Given the description of an element on the screen output the (x, y) to click on. 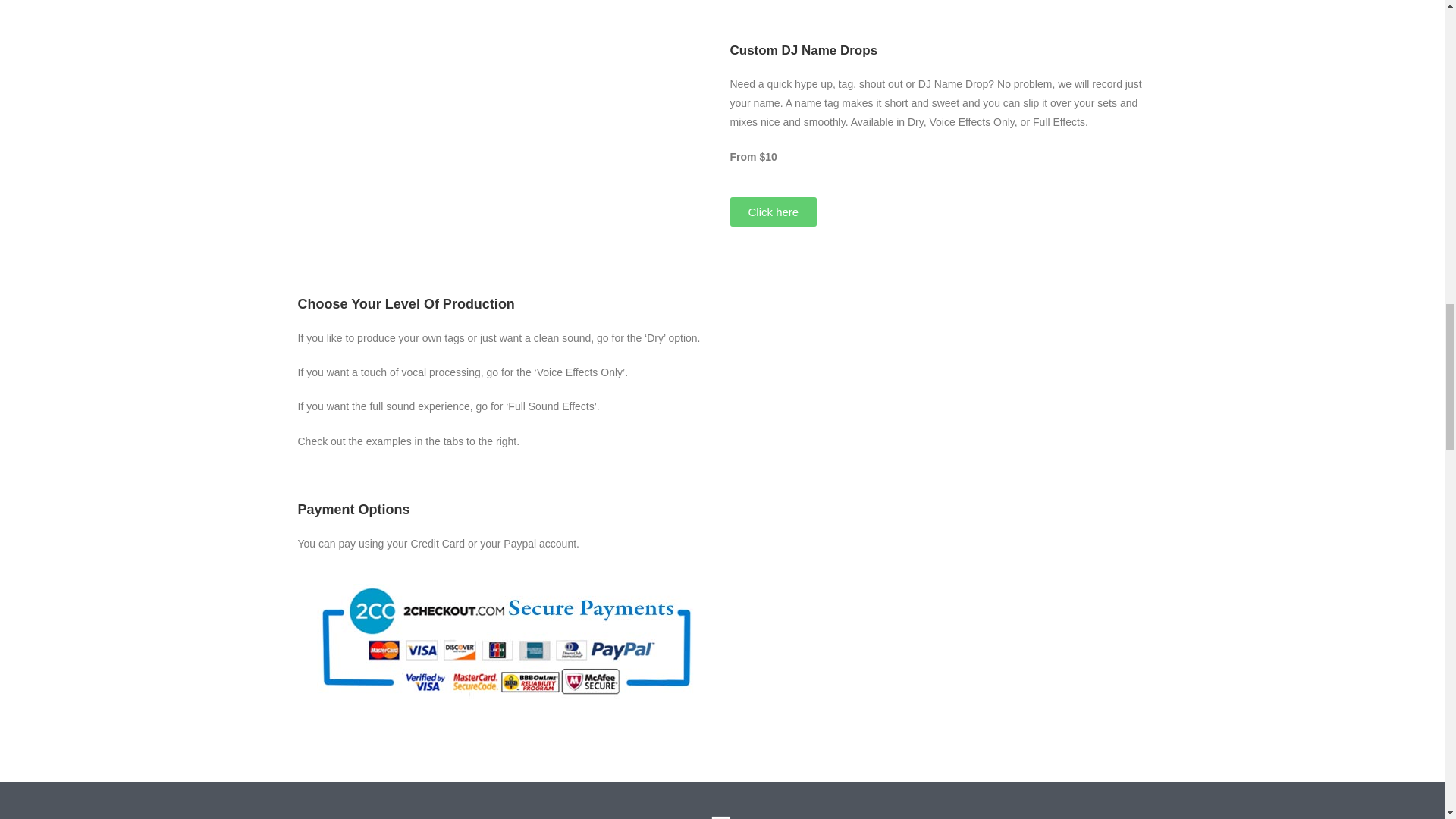
Custom DJ Name Drops (803, 50)
Click here (772, 211)
